Given the description of an element on the screen output the (x, y) to click on. 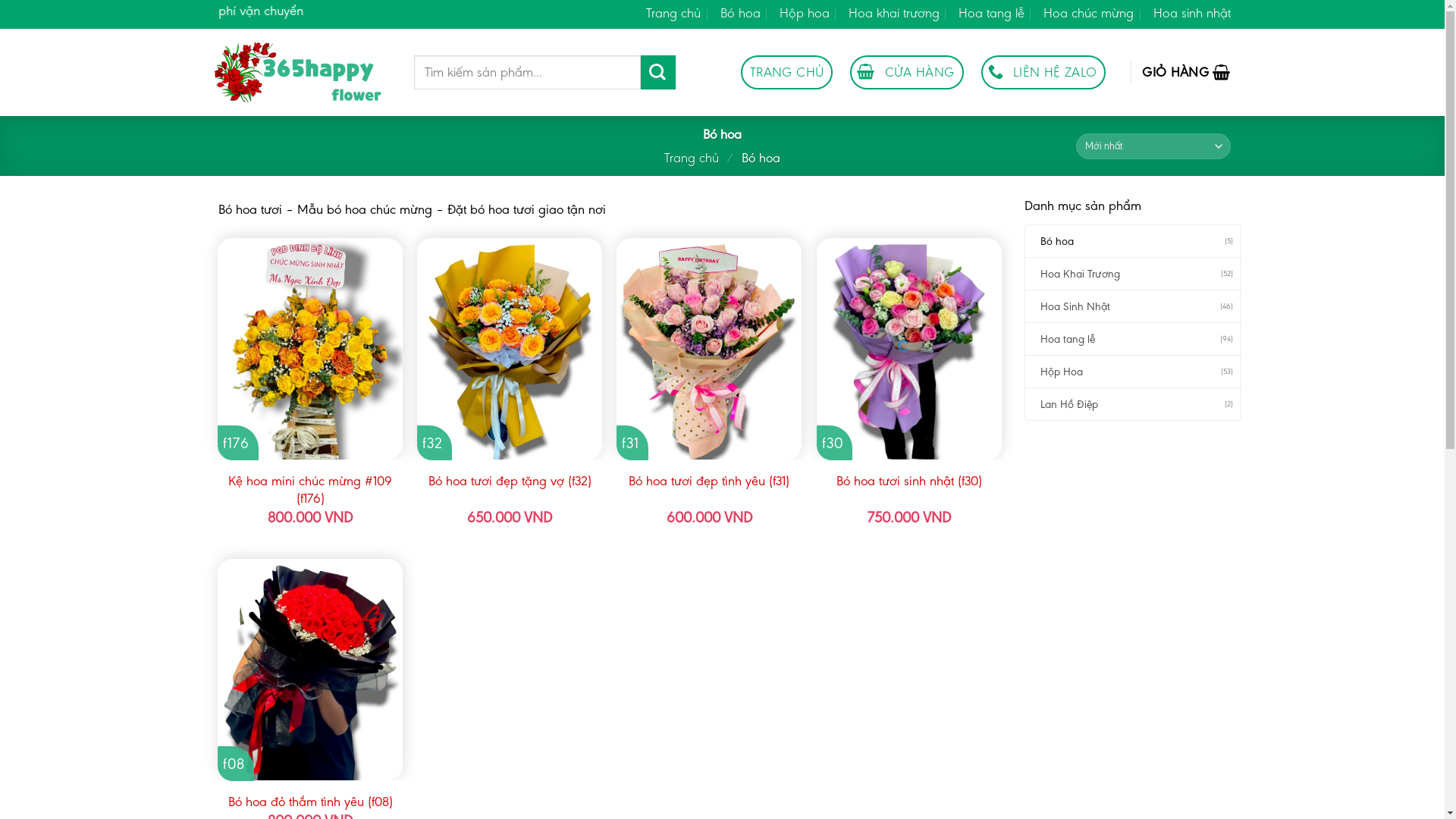
Skip to content Element type: text (0, 0)
